Given the description of an element on the screen output the (x, y) to click on. 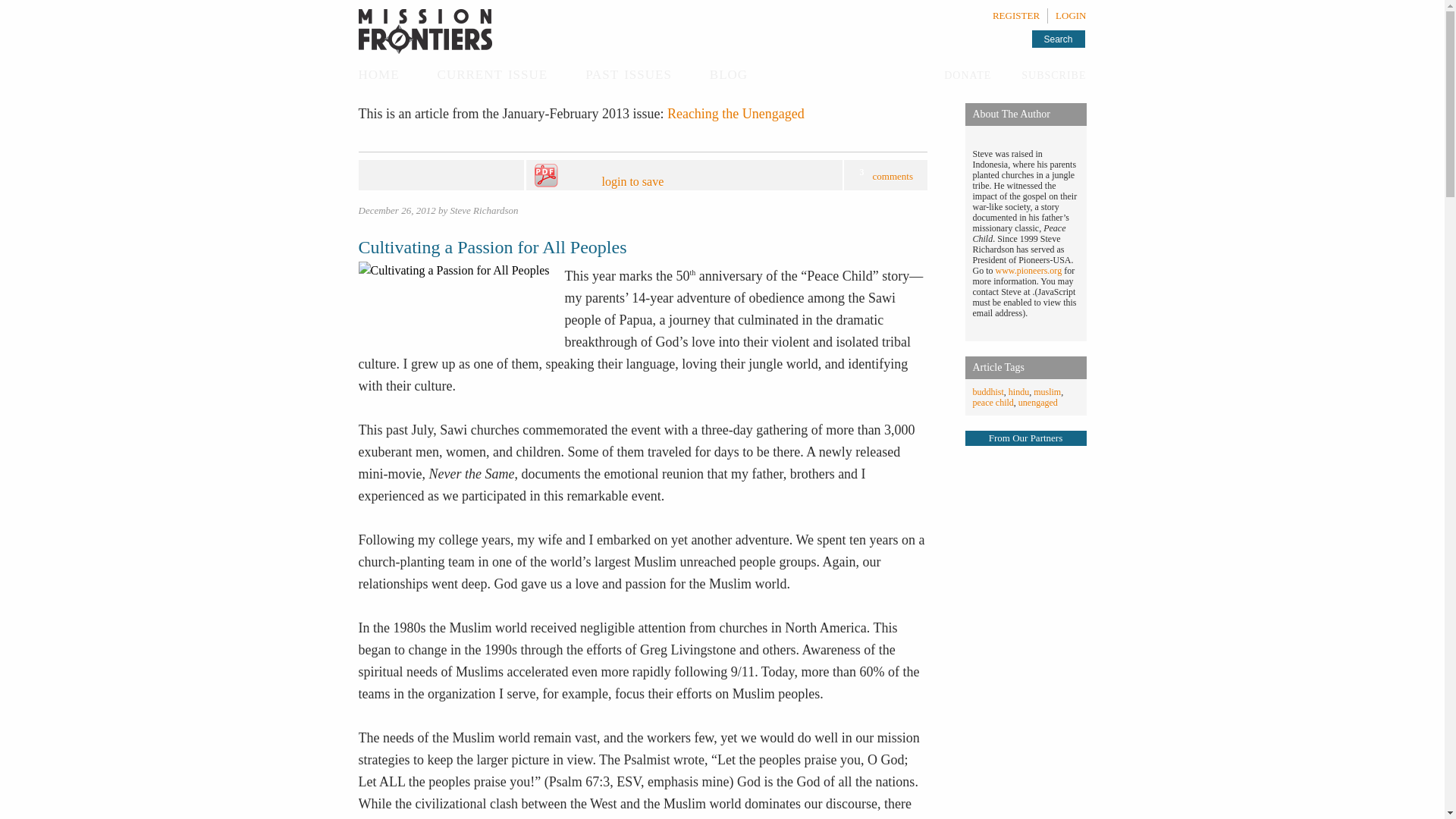
login to save (666, 175)
unengaged (1037, 402)
Reaching the Unengaged (735, 113)
past issues (628, 72)
hindu (1019, 391)
blog (729, 72)
Search (1057, 38)
buddhist (987, 391)
hindu (1019, 391)
muslim (1047, 391)
buddhist (987, 391)
comments (892, 175)
peace child (992, 402)
home (378, 72)
donate (967, 74)
